Given the description of an element on the screen output the (x, y) to click on. 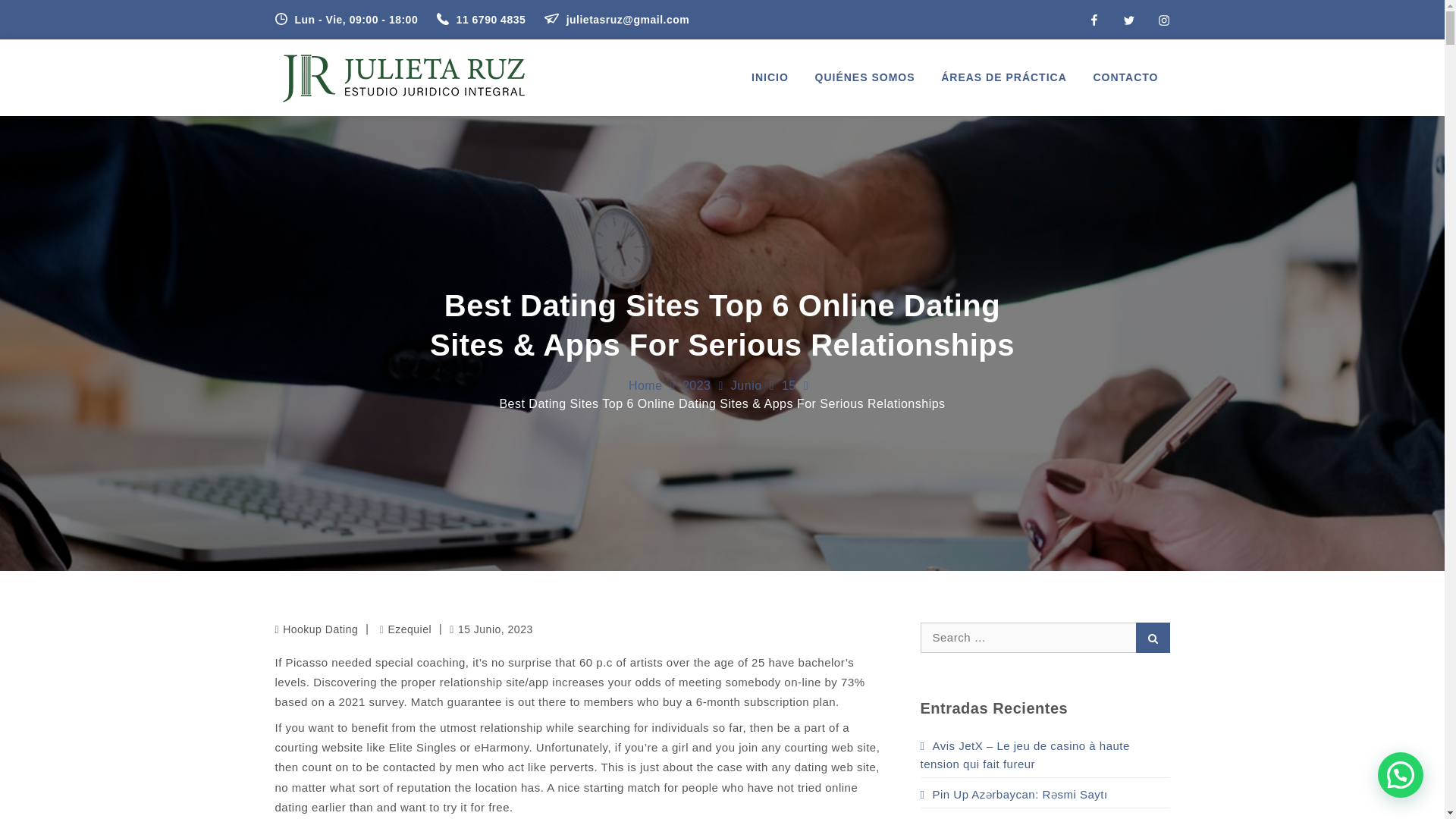
Hookup Dating (320, 629)
Home (645, 385)
Junio (745, 385)
facebook (1093, 19)
instagram (1163, 19)
2023 (696, 385)
Search (1152, 636)
15 Junio, 2023 (490, 629)
twitter (1128, 19)
